Given the description of an element on the screen output the (x, y) to click on. 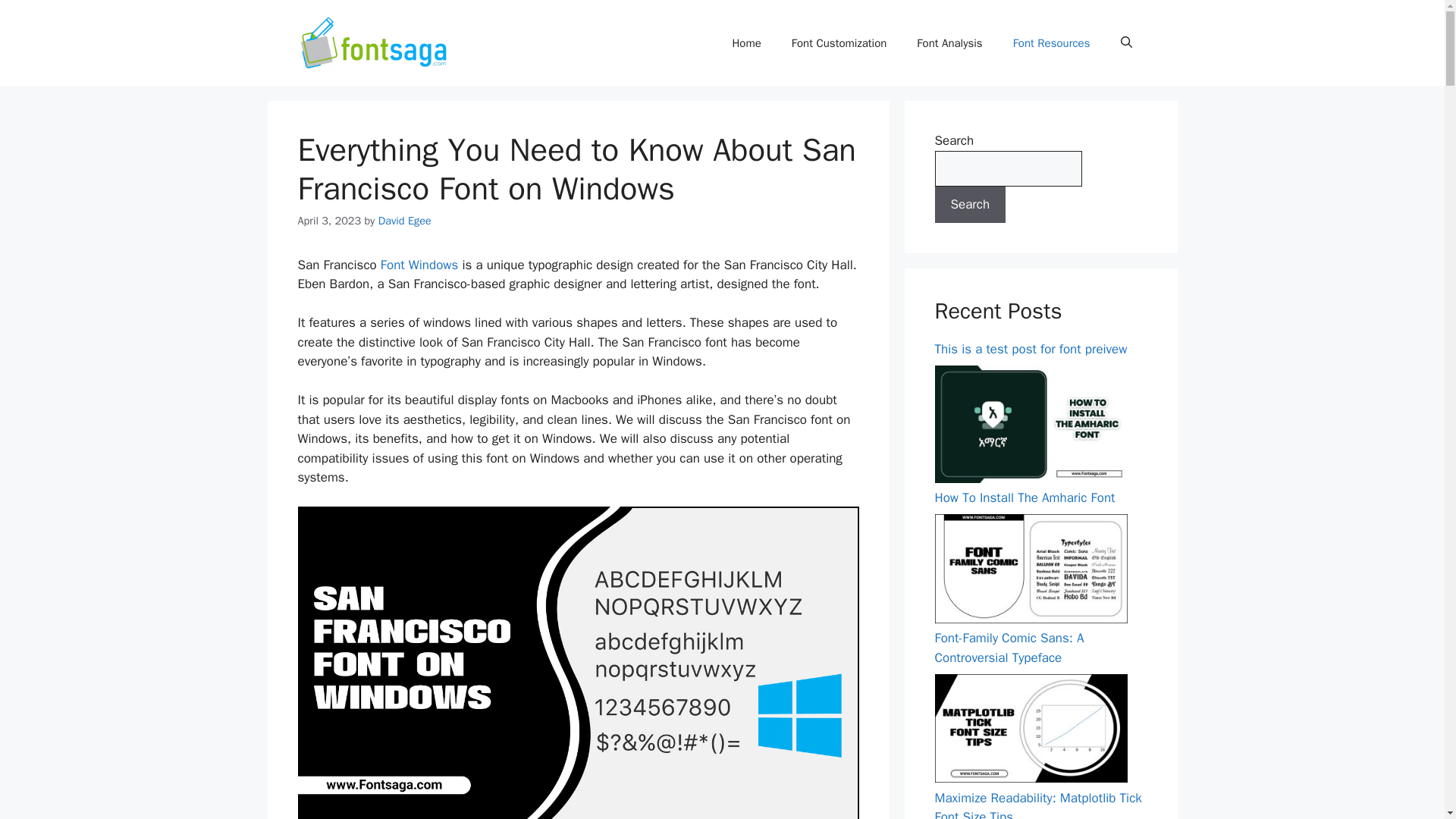
David Egee (404, 220)
Font Customization (839, 43)
Home (746, 43)
Font Windows (417, 264)
View all posts by David Egee (404, 220)
Font Analysis (949, 43)
Font Resources (1051, 43)
